Given the description of an element on the screen output the (x, y) to click on. 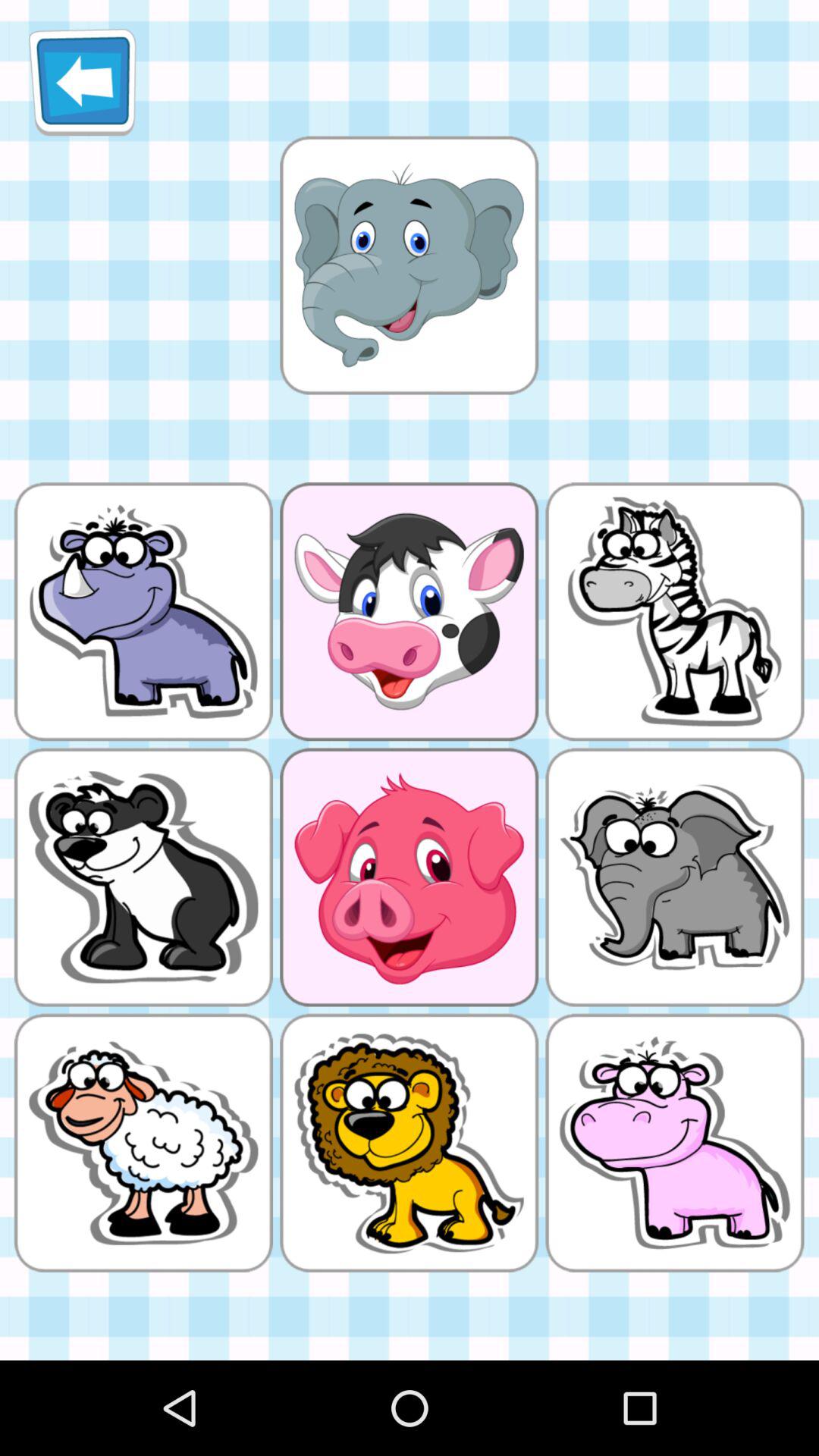
game (409, 264)
